Given the description of an element on the screen output the (x, y) to click on. 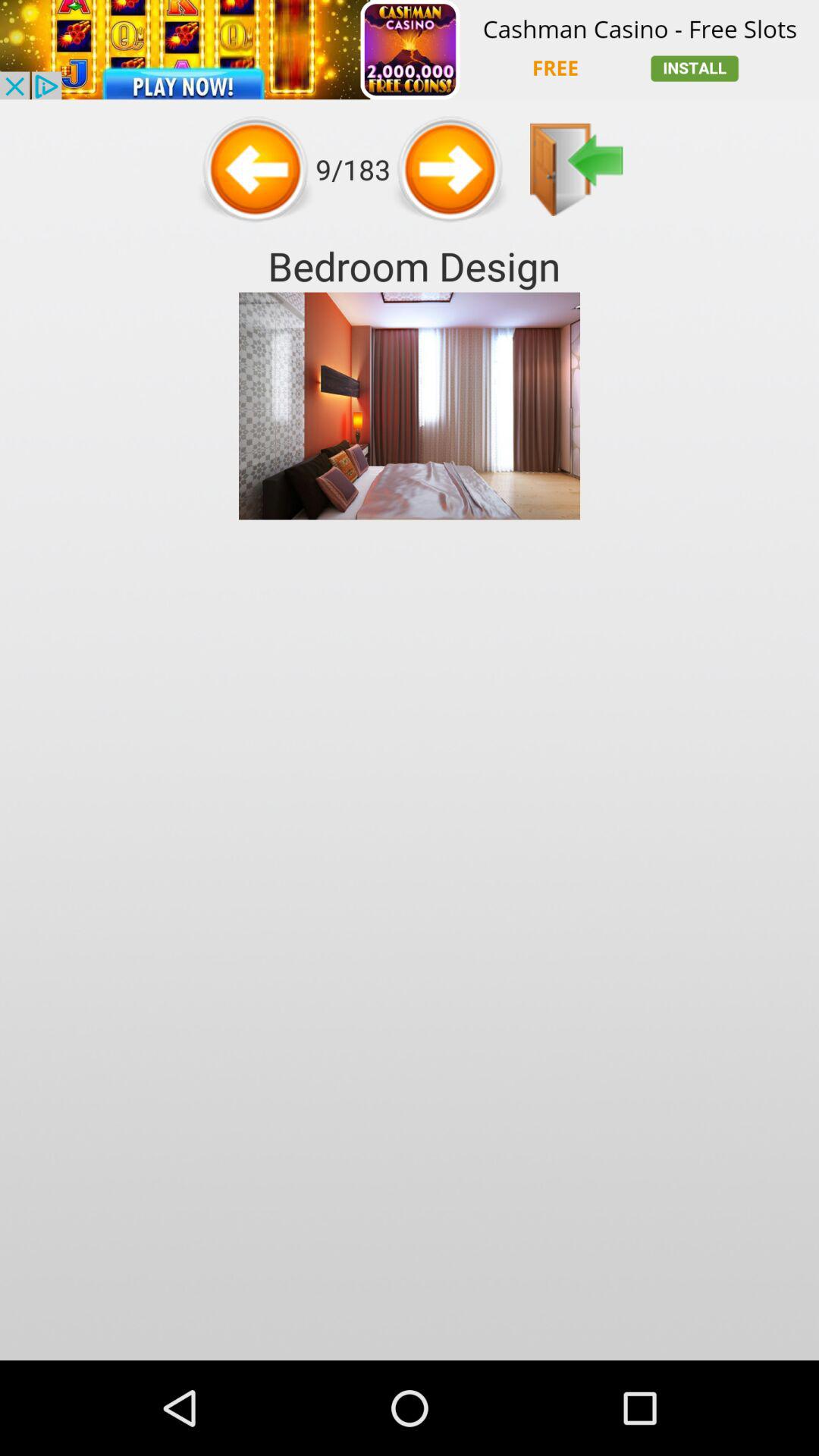
go back (255, 169)
